Given the description of an element on the screen output the (x, y) to click on. 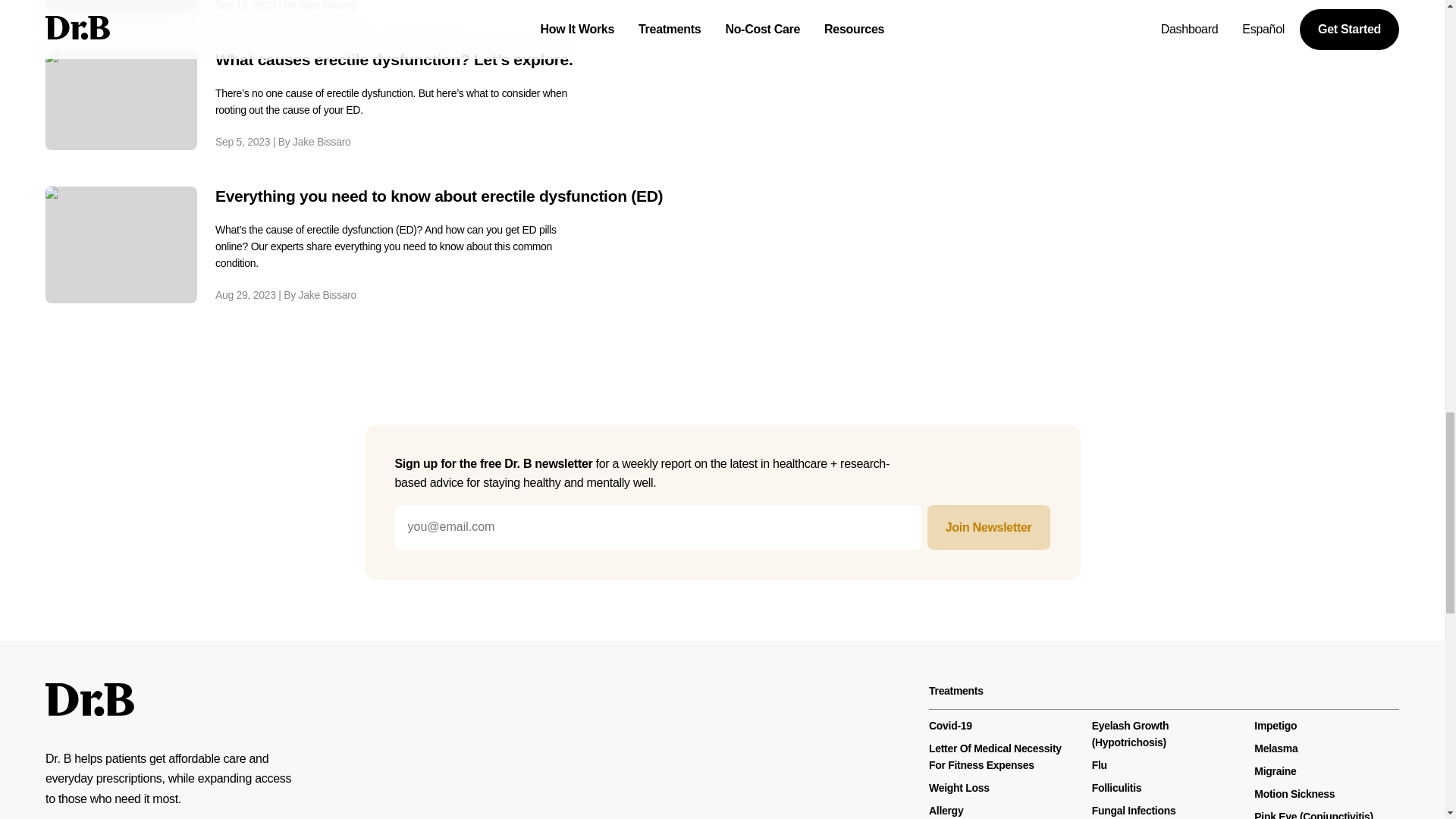
Join Newsletter (988, 527)
Covid-19 (950, 725)
Allergy (945, 810)
Letter Of Medical Necessity For Fitness Expenses (994, 756)
Weight Loss (959, 787)
